Given the description of an element on the screen output the (x, y) to click on. 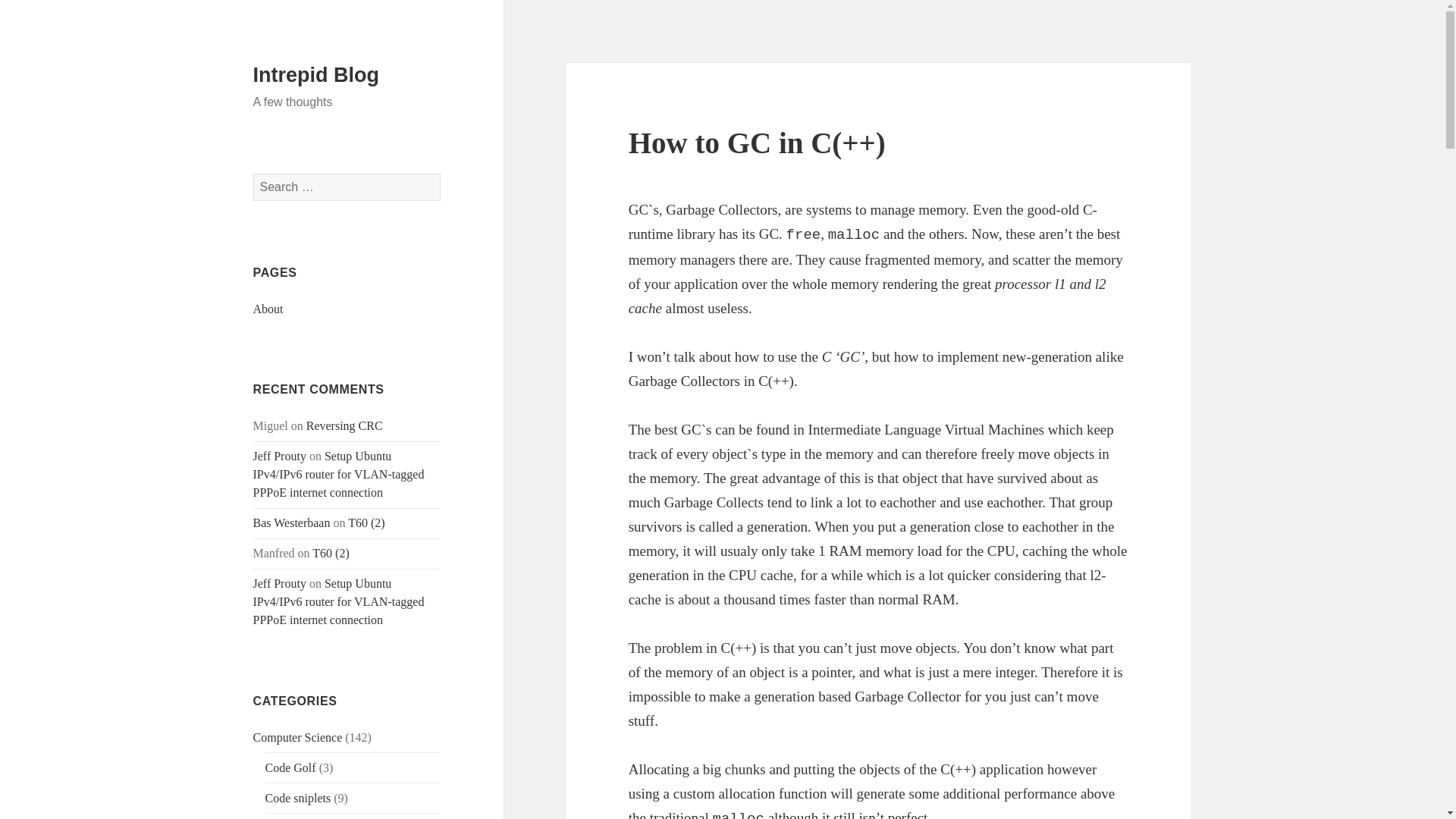
About (268, 308)
Bas Westerbaan (291, 522)
Jeff Prouty (279, 583)
Reversing CRC (343, 425)
Intrepid Blog (315, 74)
Jeff Prouty (279, 455)
Code sniplets (297, 797)
Code Golf (289, 767)
Computer Science (297, 737)
